Given the description of an element on the screen output the (x, y) to click on. 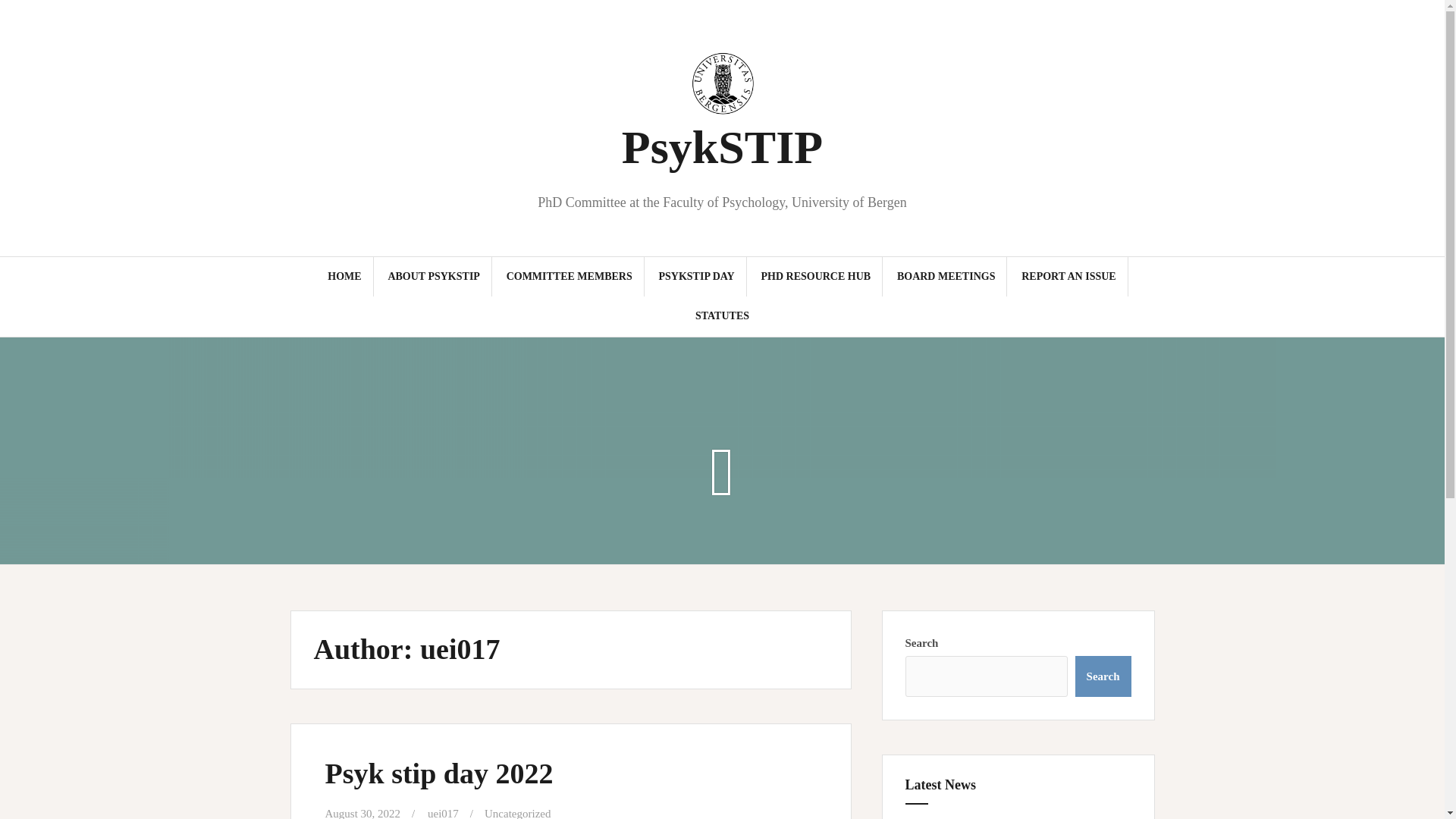
COMMITTEE MEMBERS (568, 276)
ABOUT PSYKSTIP (433, 276)
PSYKSTIP DAY (695, 276)
PHD RESOURCE HUB (815, 276)
STATUTES (722, 315)
PsykSTIP (721, 146)
BOARD MEETINGS (945, 276)
HOME (344, 276)
REPORT AN ISSUE (1069, 276)
